Given the description of an element on the screen output the (x, y) to click on. 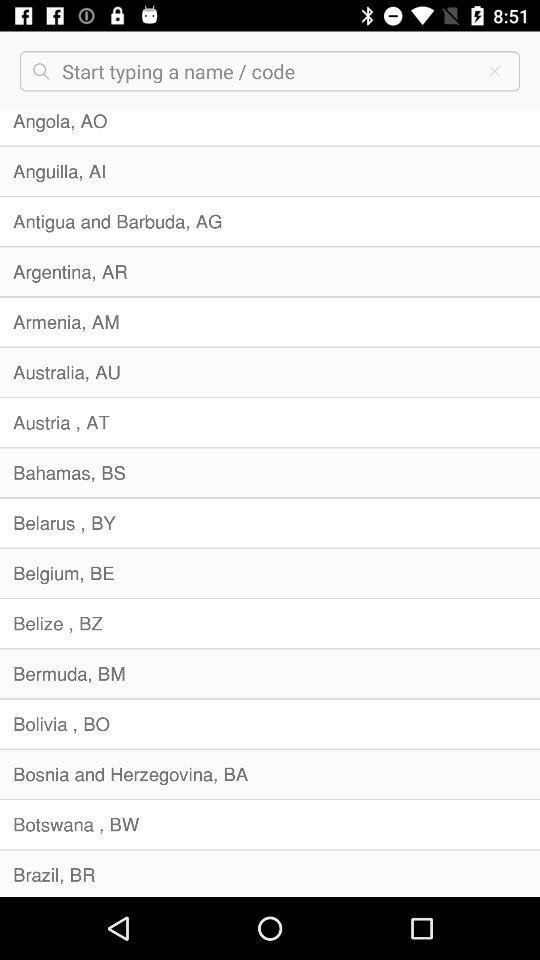
tap item below bosnia and herzegovina (270, 824)
